Given the description of an element on the screen output the (x, y) to click on. 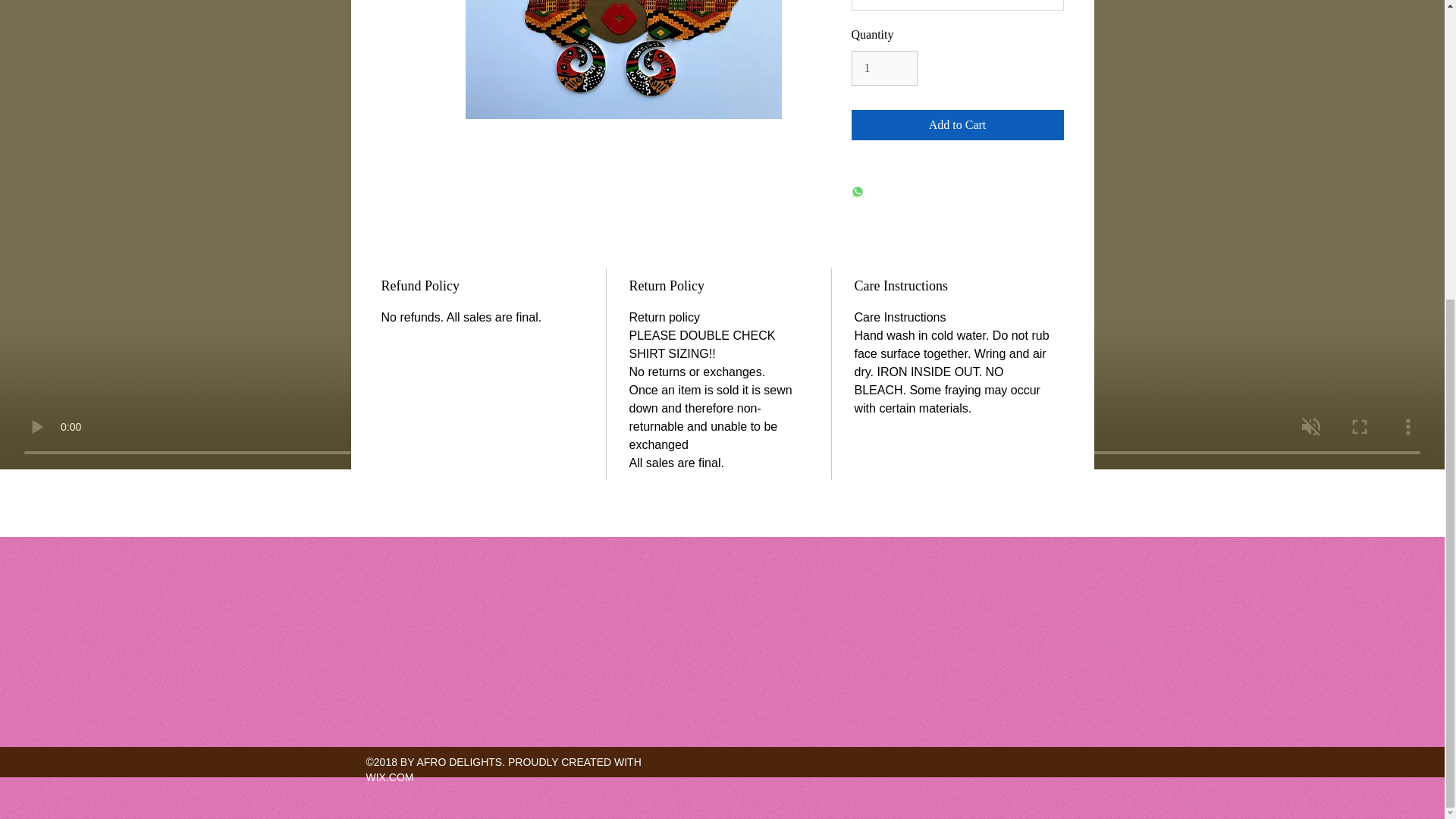
Add to Cart (956, 124)
1 (883, 67)
Select (956, 5)
